Given the description of an element on the screen output the (x, y) to click on. 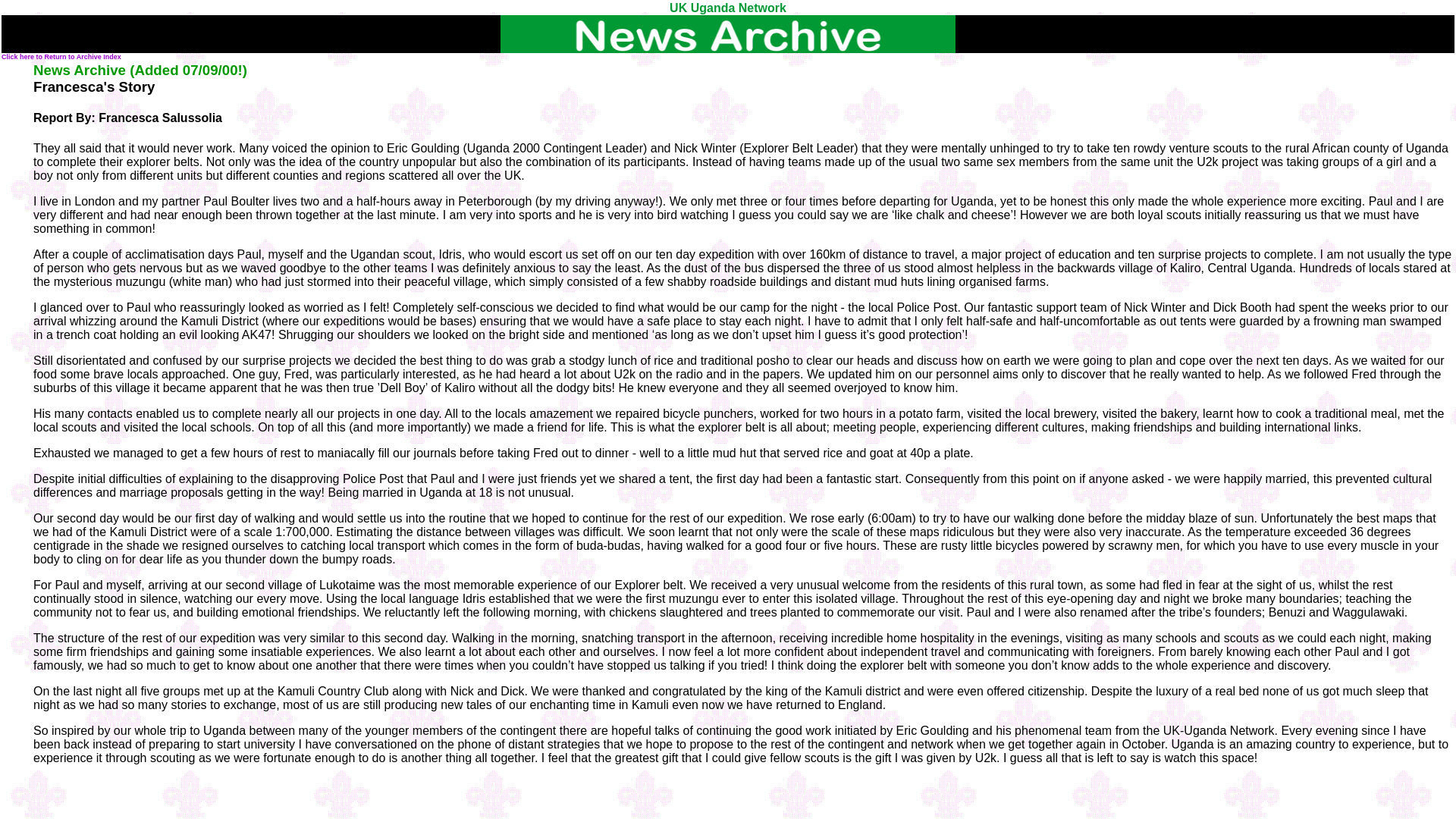
The UK Uganda Network (727, 34)
Click here to Return to Archive Index (60, 56)
